Given the description of an element on the screen output the (x, y) to click on. 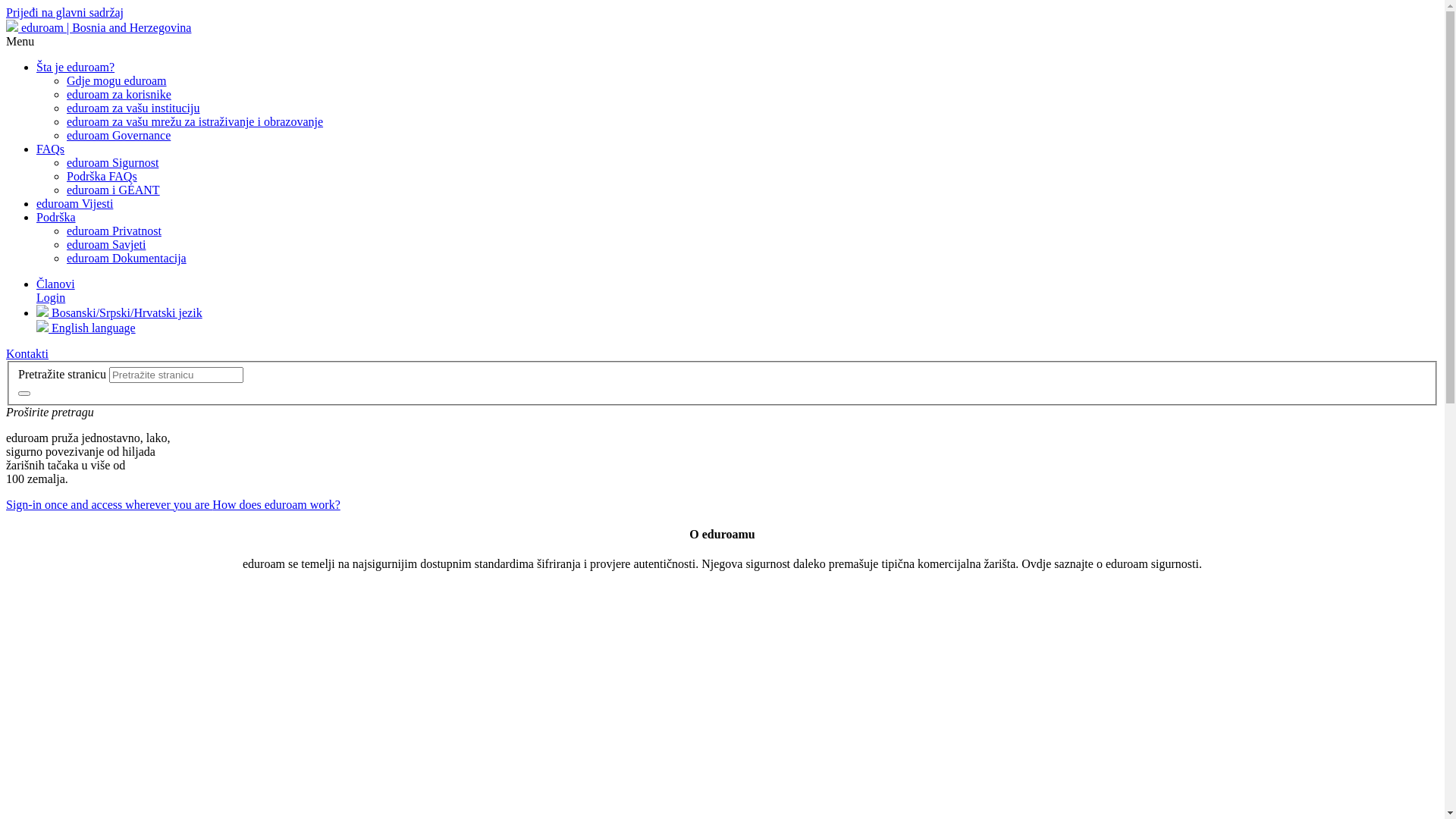
Gdje mogu eduroam Element type: text (116, 80)
FAQs Element type: text (50, 148)
eduroam Vijesti Element type: text (74, 203)
Bosanski/Srpski/Hrvatski jezik Element type: text (119, 312)
eduroam Dokumentacija Element type: text (126, 257)
Login Element type: text (50, 297)
Sign-in once and access wherever you are Element type: text (109, 504)
eduroam | Bosnia and Herzegovina Element type: text (98, 27)
eduroam za korisnike Element type: text (118, 93)
English language Element type: text (85, 327)
Menu Element type: text (20, 40)
How does eduroam work? Element type: text (275, 504)
eduroam Privatnost Element type: text (113, 230)
Kontakti Element type: text (27, 353)
eduroam Sigurnost Element type: text (112, 162)
eduroam Savjeti Element type: text (105, 244)
eduroam Governance Element type: text (118, 134)
